Given the description of an element on the screen output the (x, y) to click on. 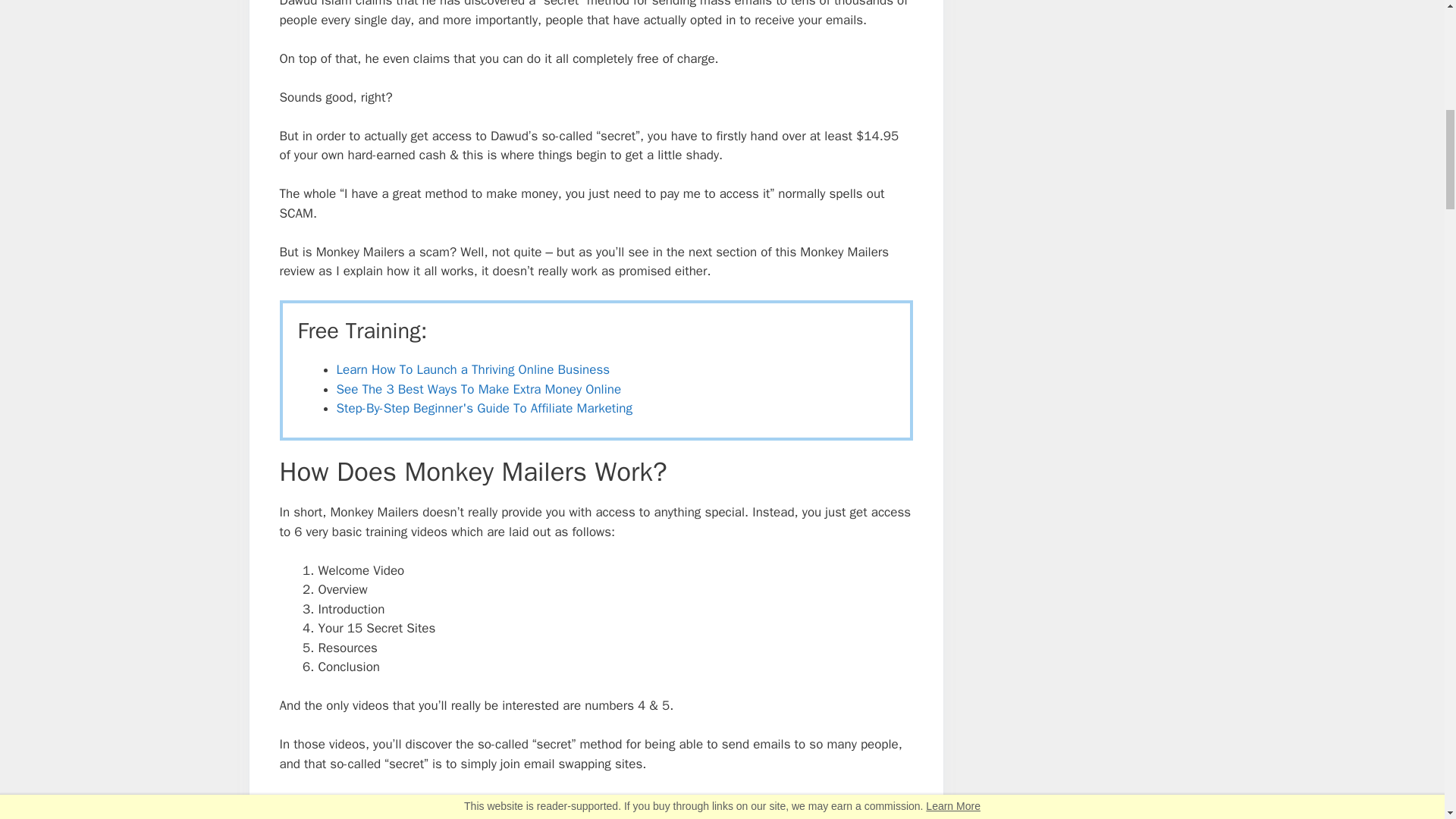
Step-By-Step Beginner's Guide To Affiliate Marketing (483, 408)
See The 3 Best Ways To Make Extra Money Online (478, 389)
Learn How To Launch a Thriving Online Business (473, 369)
